Given the description of an element on the screen output the (x, y) to click on. 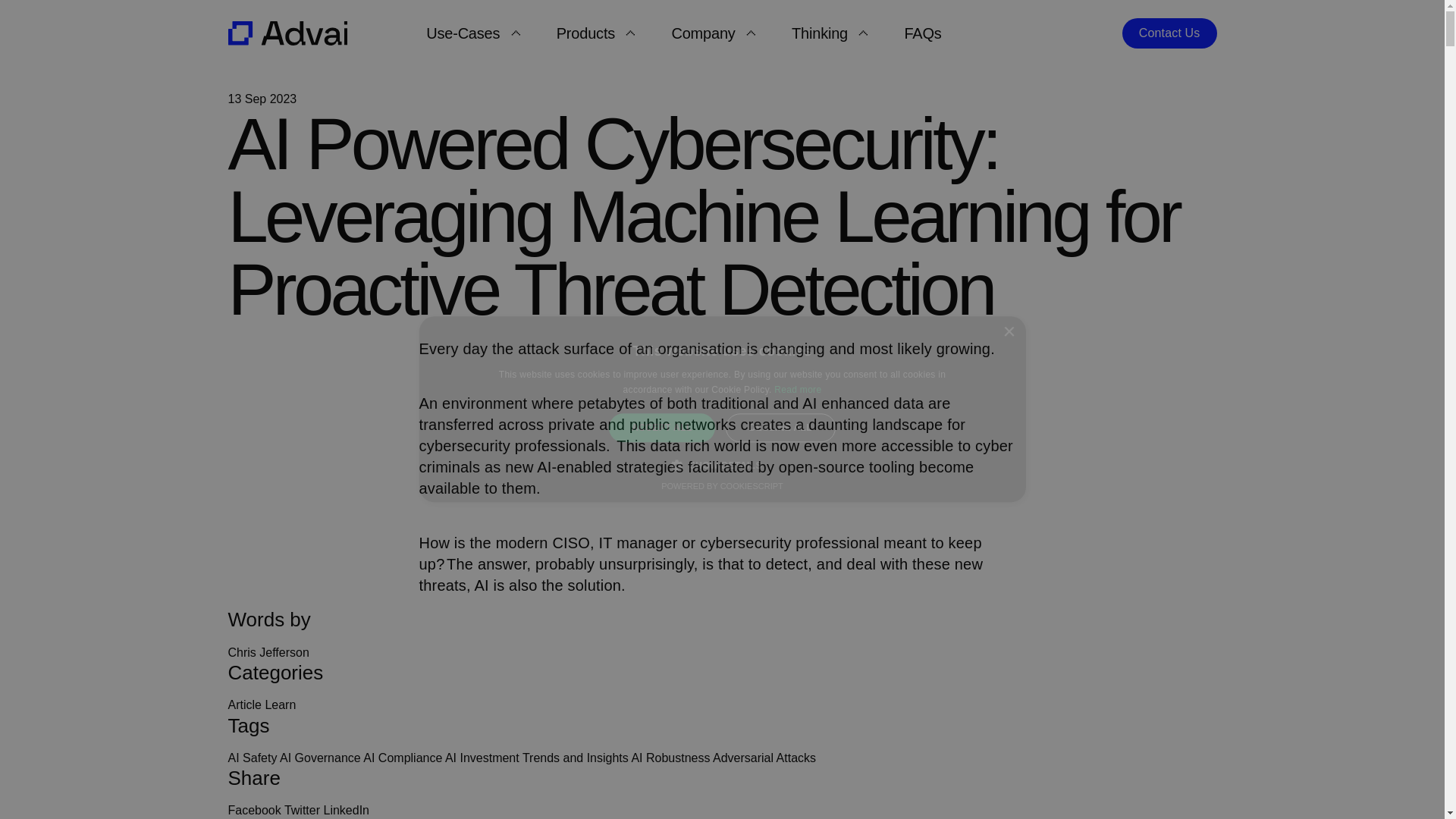
Company (713, 32)
AI Governance (320, 757)
Learn (279, 704)
Products (595, 32)
FAQs (922, 32)
Trends and Insights (575, 757)
Contact Us (1169, 33)
Use-Cases (472, 32)
Article (243, 704)
Contact Us (1169, 33)
AI Investment (482, 757)
Thinking (829, 32)
AI Compliance (402, 757)
AI Robustness (670, 757)
Advai (287, 33)
